Given the description of an element on the screen output the (x, y) to click on. 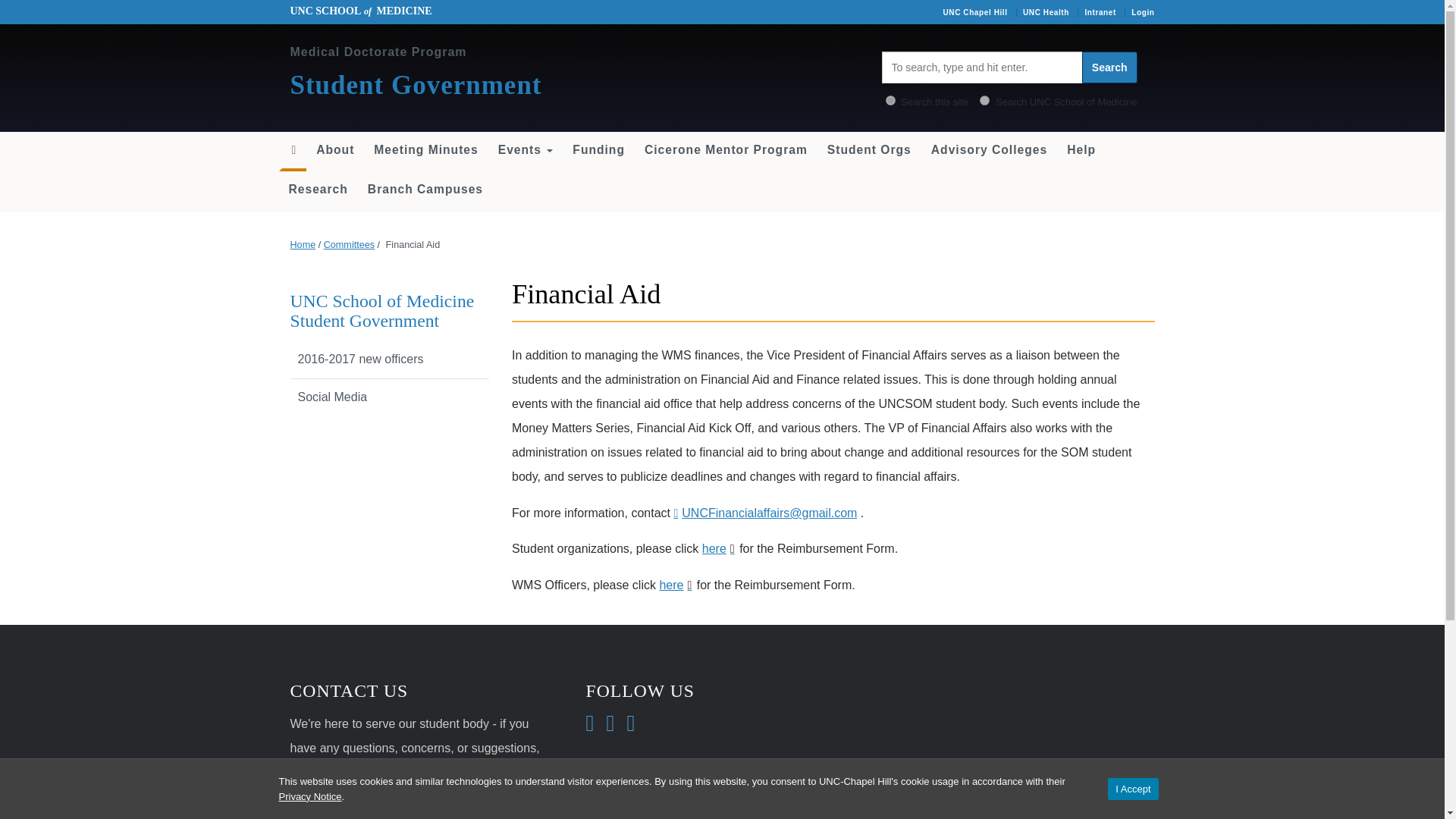
UNC School of Medicine Student Government (381, 310)
I Accept (1132, 789)
Site Admin Only (1142, 12)
Intranet (1099, 12)
gcs (984, 100)
Privacy Notice (310, 795)
Student Orgs (868, 149)
Home (302, 244)
Login (1142, 12)
Committees (348, 244)
